Given the description of an element on the screen output the (x, y) to click on. 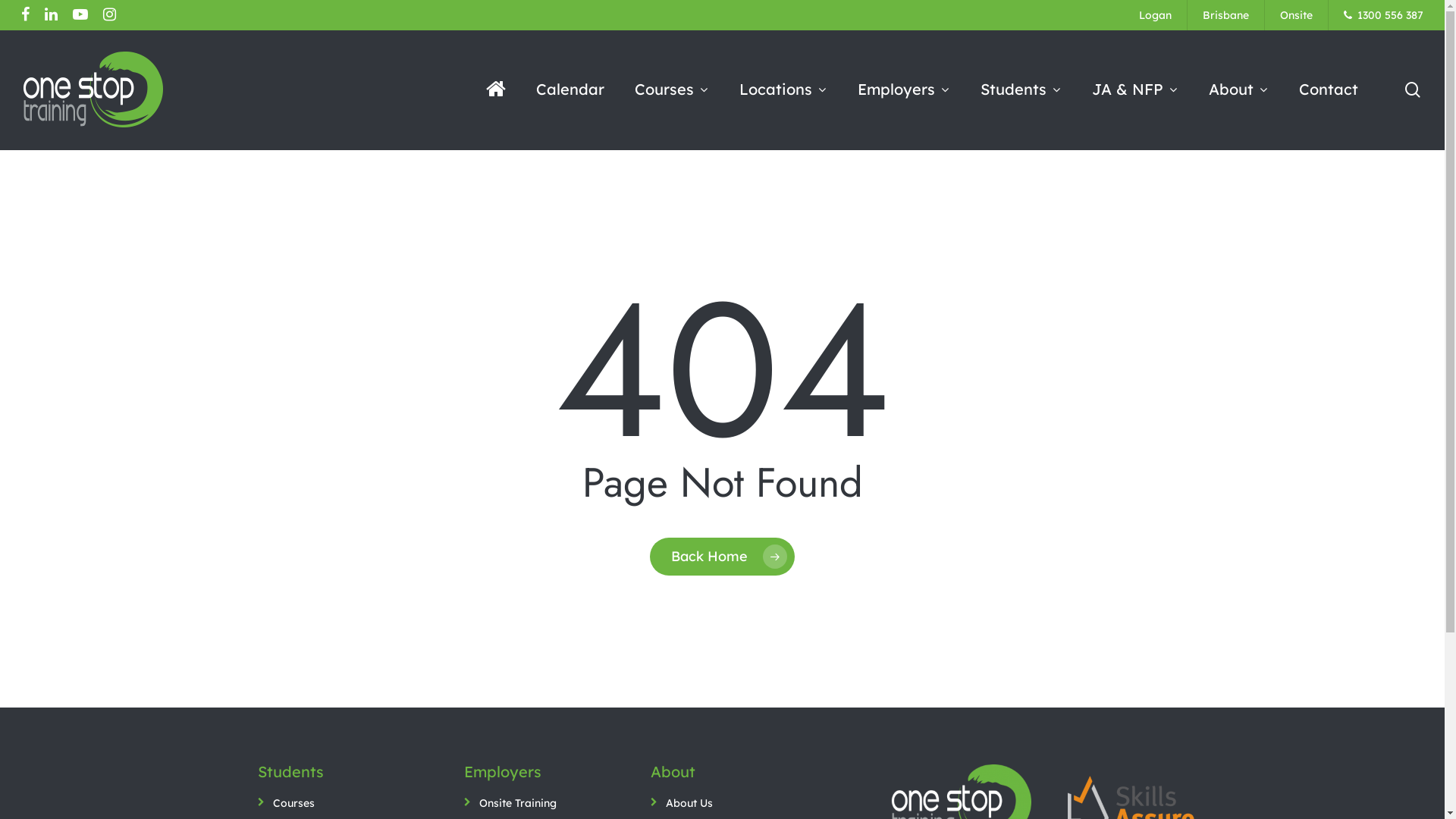
Brisbane Element type: text (1225, 14)
About Element type: text (1238, 89)
JA & NFP Element type: text (1134, 89)
Contact Element type: text (1328, 89)
youtube Element type: text (79, 14)
1300 556 387 Element type: text (1383, 14)
linkedin Element type: text (50, 14)
Courses Element type: text (293, 803)
Employers Element type: text (903, 89)
Logan Element type: text (1155, 14)
instagram Element type: text (109, 14)
Students Element type: text (1020, 89)
search Element type: text (1412, 89)
Onsite Training Element type: text (517, 803)
About Us Element type: text (688, 803)
Locations Element type: text (783, 89)
Onsite Element type: text (1296, 14)
Back Home Element type: text (721, 555)
facebook Element type: text (25, 14)
Calendar Element type: text (569, 89)
Courses Element type: text (671, 89)
